Given the description of an element on the screen output the (x, y) to click on. 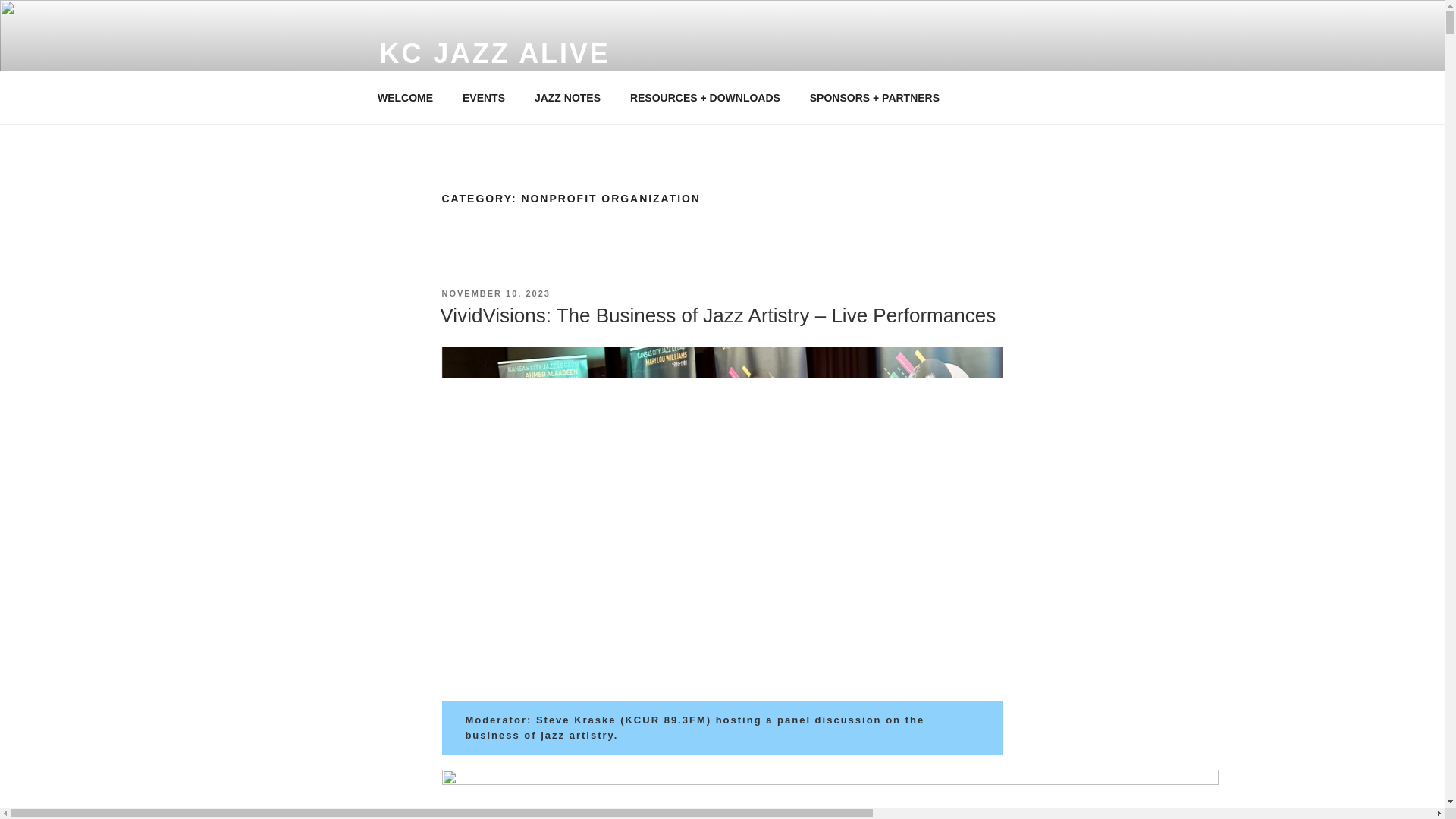
NOVEMBER 10, 2023 (495, 293)
KC JAZZ ALIVE (494, 52)
WELCOME (404, 97)
JAZZ NOTES (566, 97)
EVENTS (483, 97)
